Given the description of an element on the screen output the (x, y) to click on. 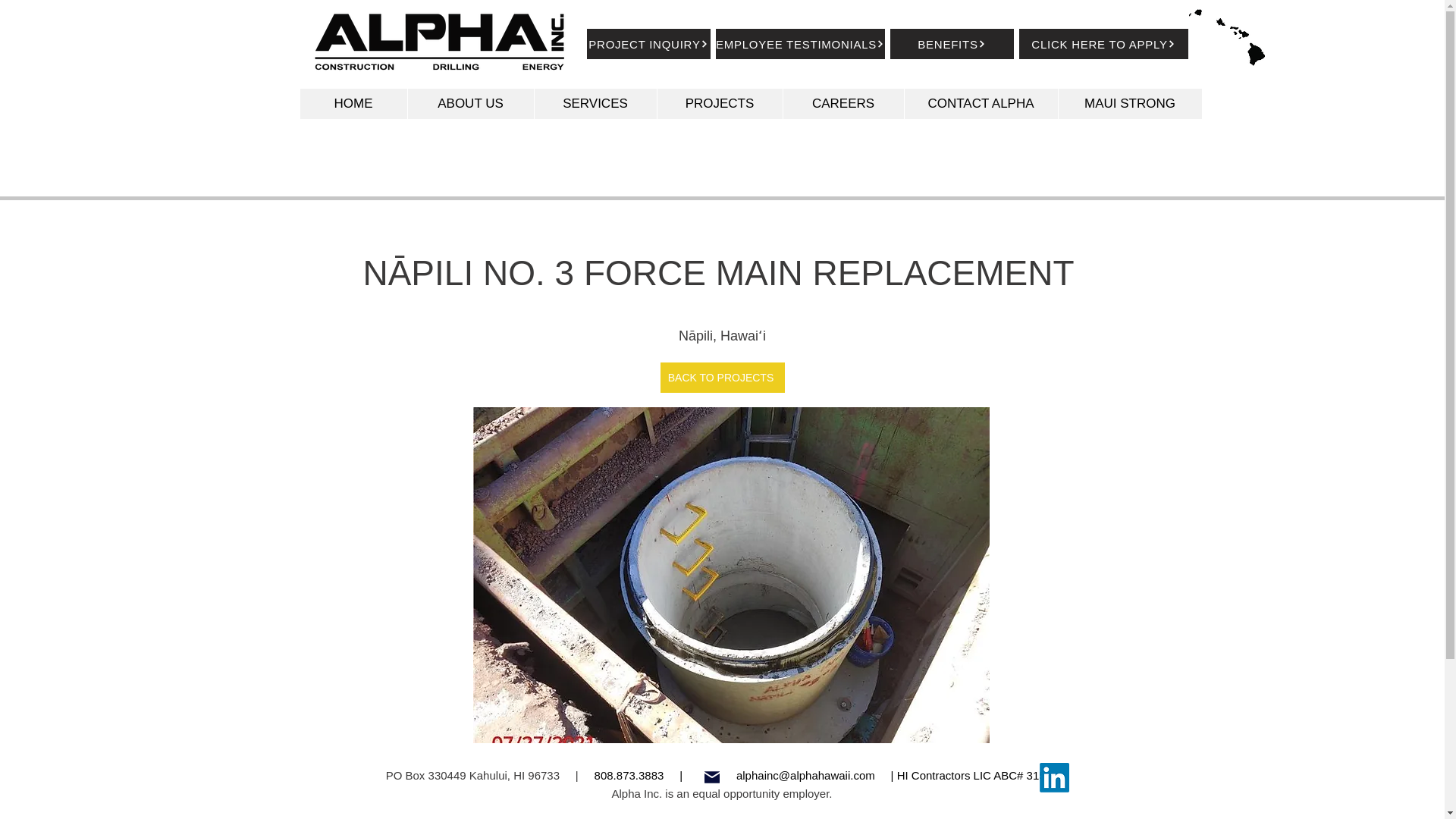
BENEFITS (951, 43)
EMPLOYEE TESTIMONIALS (800, 43)
HOME (353, 103)
CONTACT ALPHA (981, 103)
PROJECT INQUIRY (648, 43)
BACK TO PROJECTS (721, 377)
SERVICES (595, 103)
download.png (1227, 37)
PROJECTS (719, 103)
ABOUT US (469, 103)
MAUI STRONG (1129, 103)
Alpha Logo High Res.png (438, 41)
CLICK HERE TO APPLY (1103, 43)
CAREERS (843, 103)
